Given the description of an element on the screen output the (x, y) to click on. 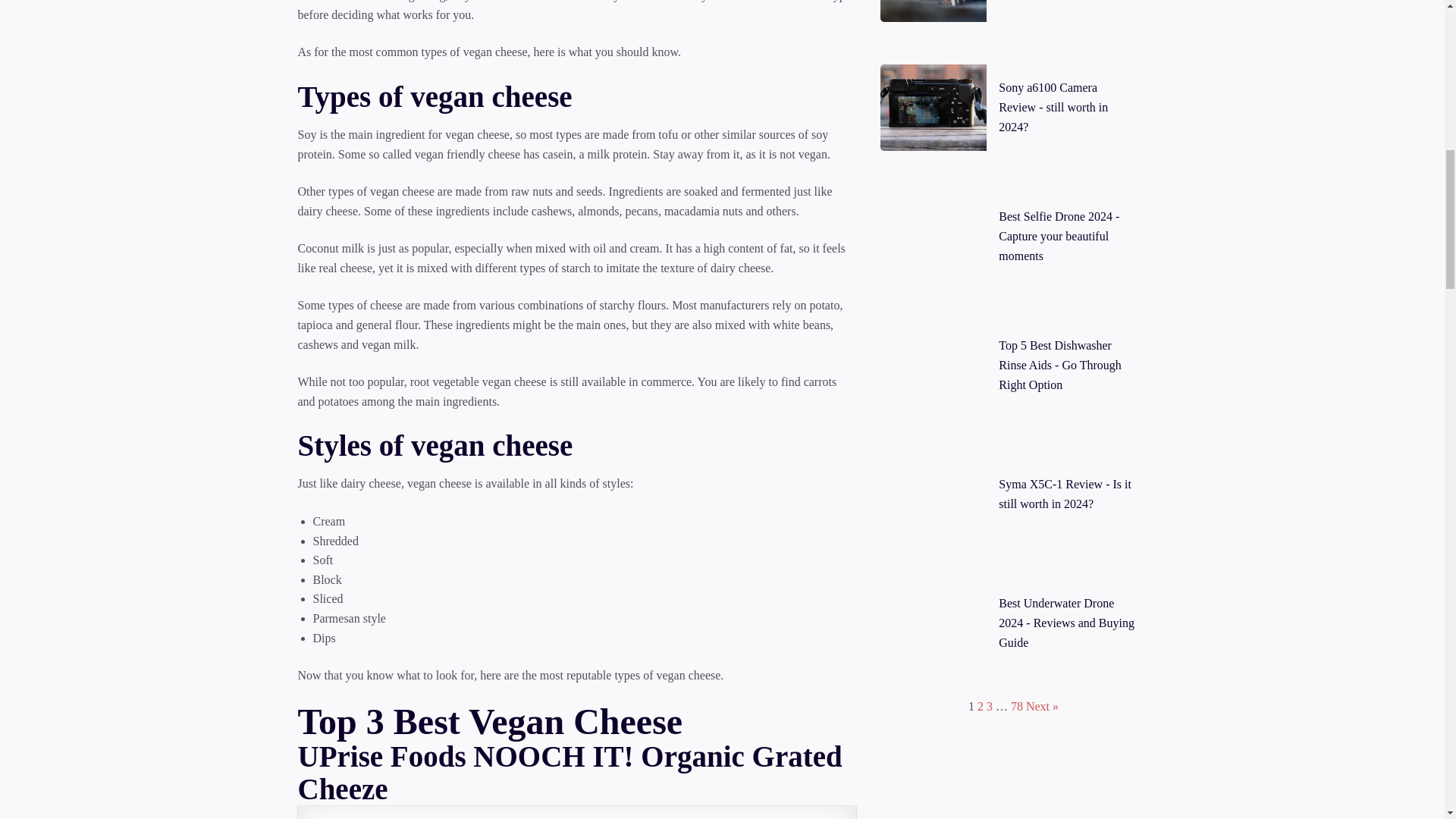
Best Underwater Drone 2024 - Reviews and Buying Guide (1066, 622)
Best Selfie Drone 2024 - Capture your beautiful moments (1058, 235)
Sony a6100 Camera Review - still worth in 2024? (1053, 106)
Top 5 Best Dishwasher Rinse Aids - Go Through Right Option (1059, 364)
Syma X5C-1 Review - Is it still worth in 2024? (1064, 493)
